Given the description of an element on the screen output the (x, y) to click on. 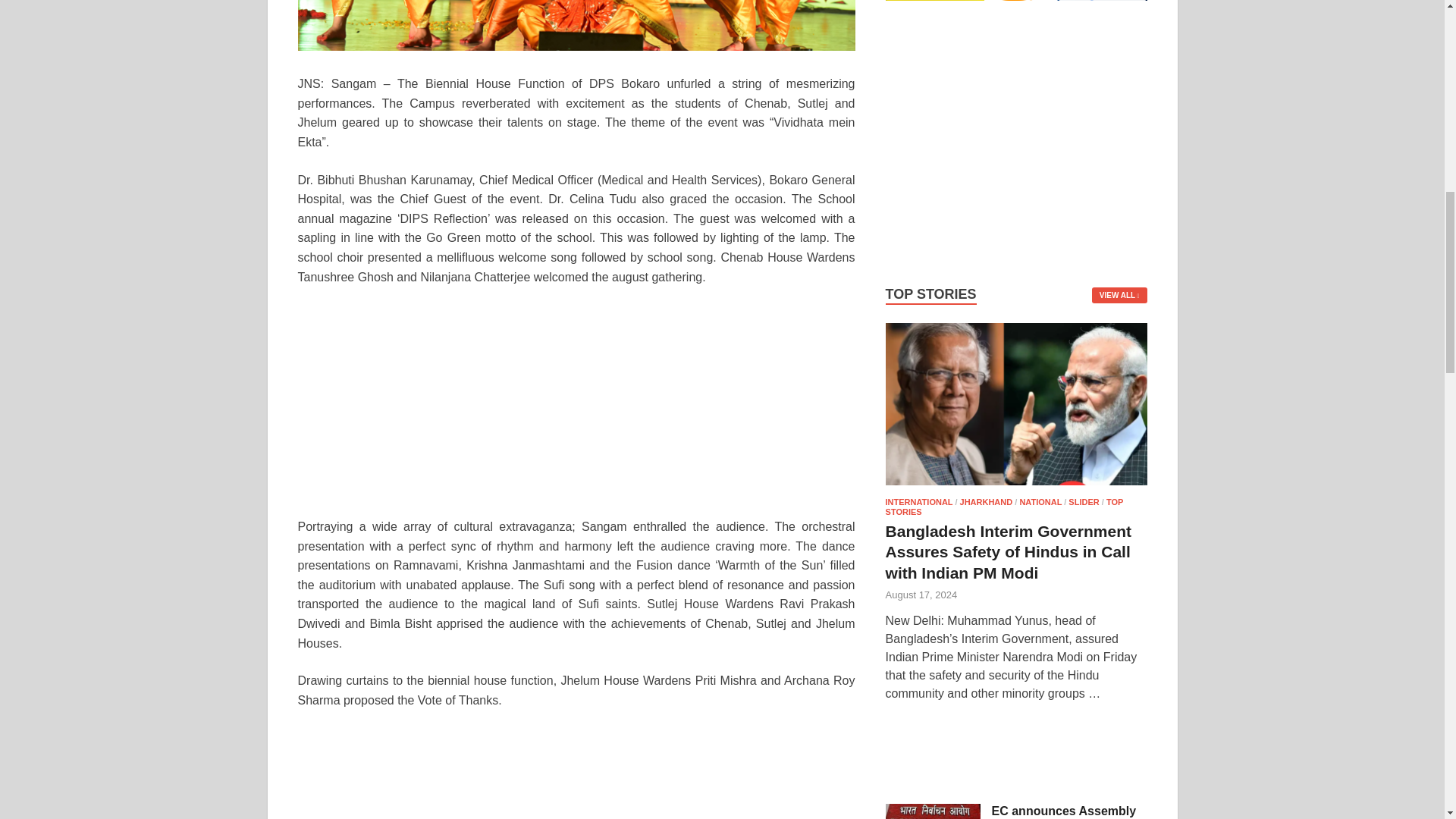
Advertisement (575, 773)
Advertisement (575, 410)
Advertisement (1016, 758)
Advertisement (1016, 149)
